Given the description of an element on the screen output the (x, y) to click on. 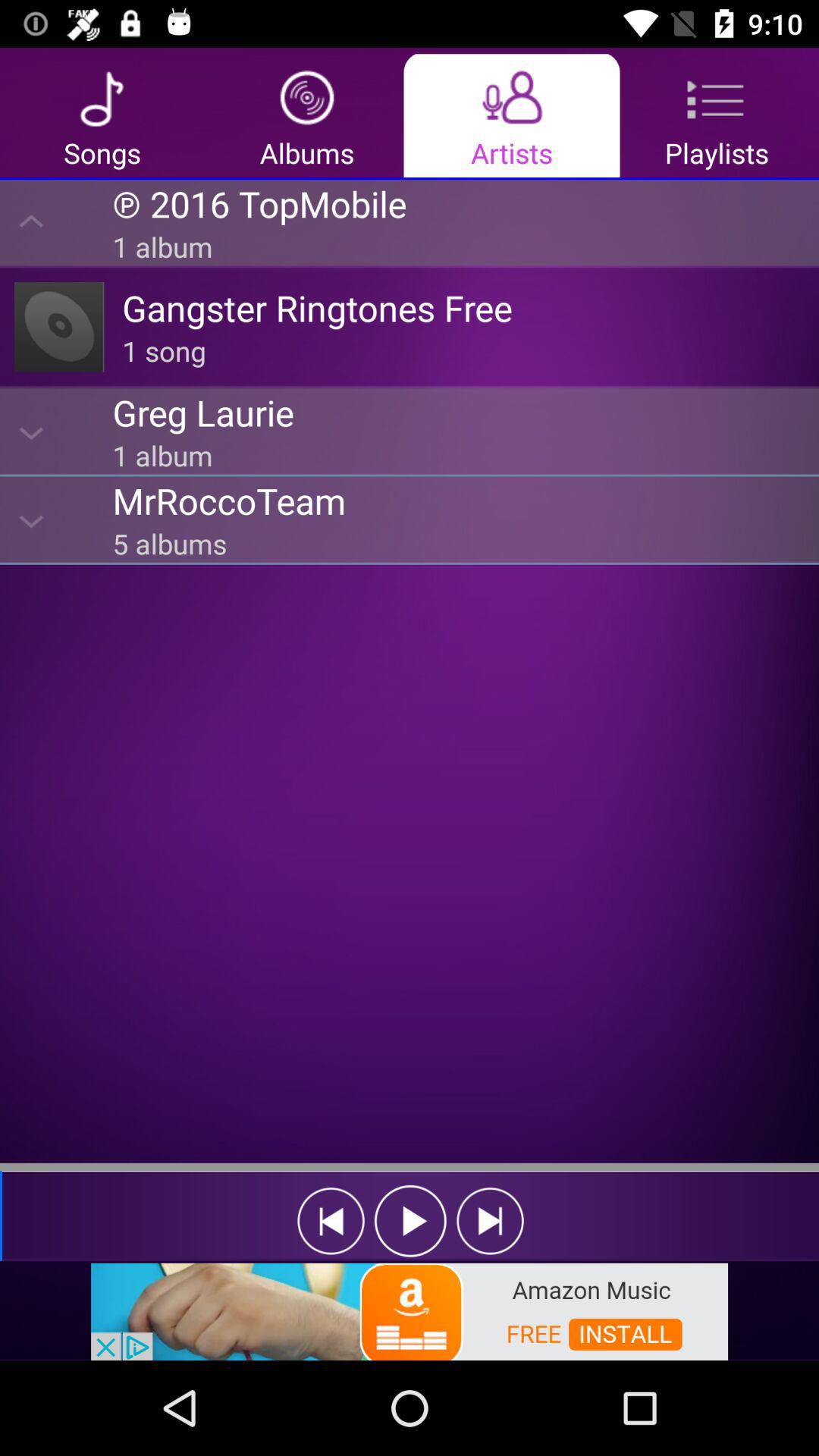
auto play button (410, 1220)
